Given the description of an element on the screen output the (x, y) to click on. 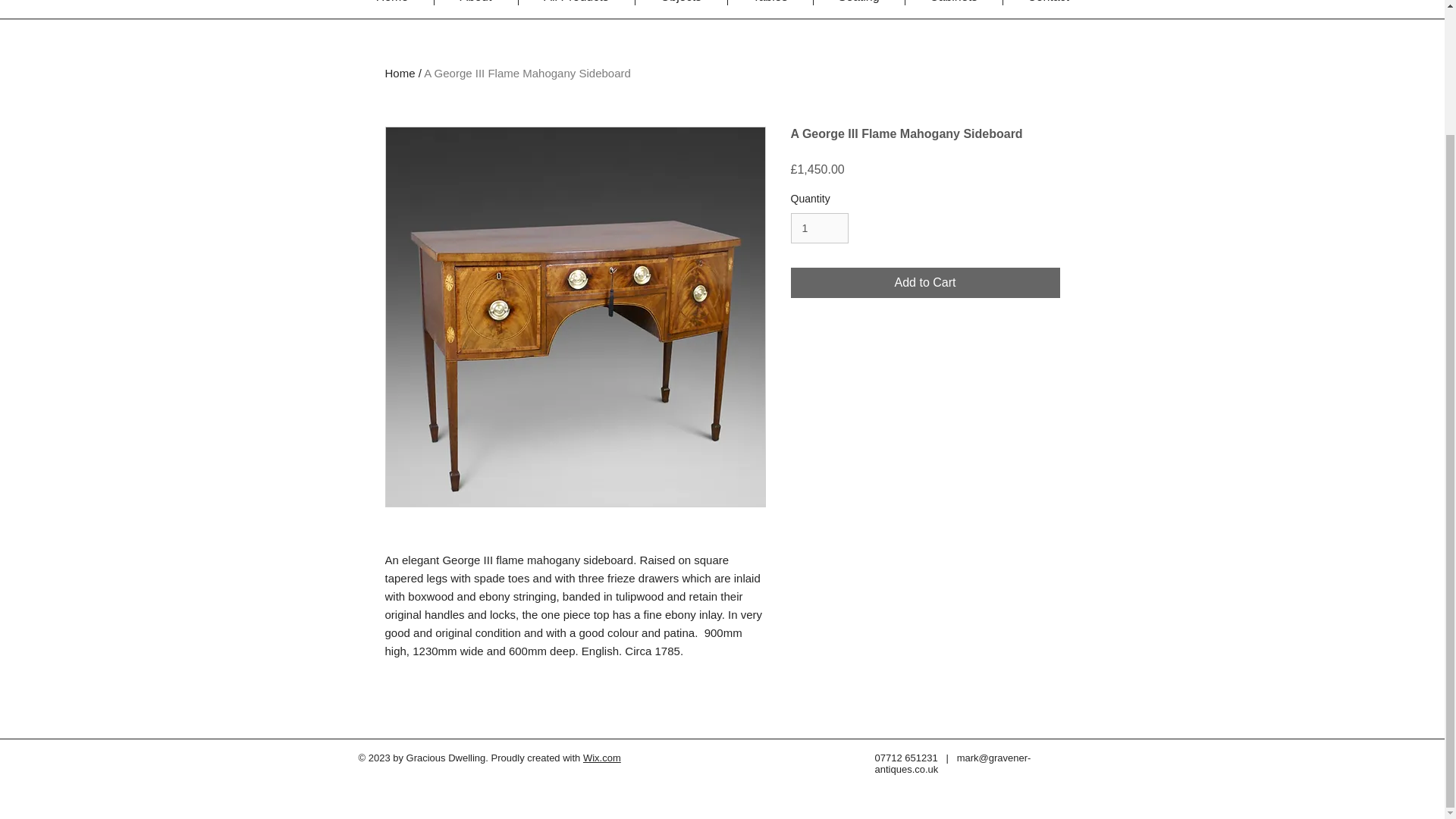
Contact (1048, 2)
1 (818, 228)
Cabinets (954, 2)
Tables (770, 2)
Objects (680, 2)
Home (399, 72)
Home (391, 2)
Add to Cart (924, 282)
Seating (858, 2)
Wix.com (602, 757)
